Given the description of an element on the screen output the (x, y) to click on. 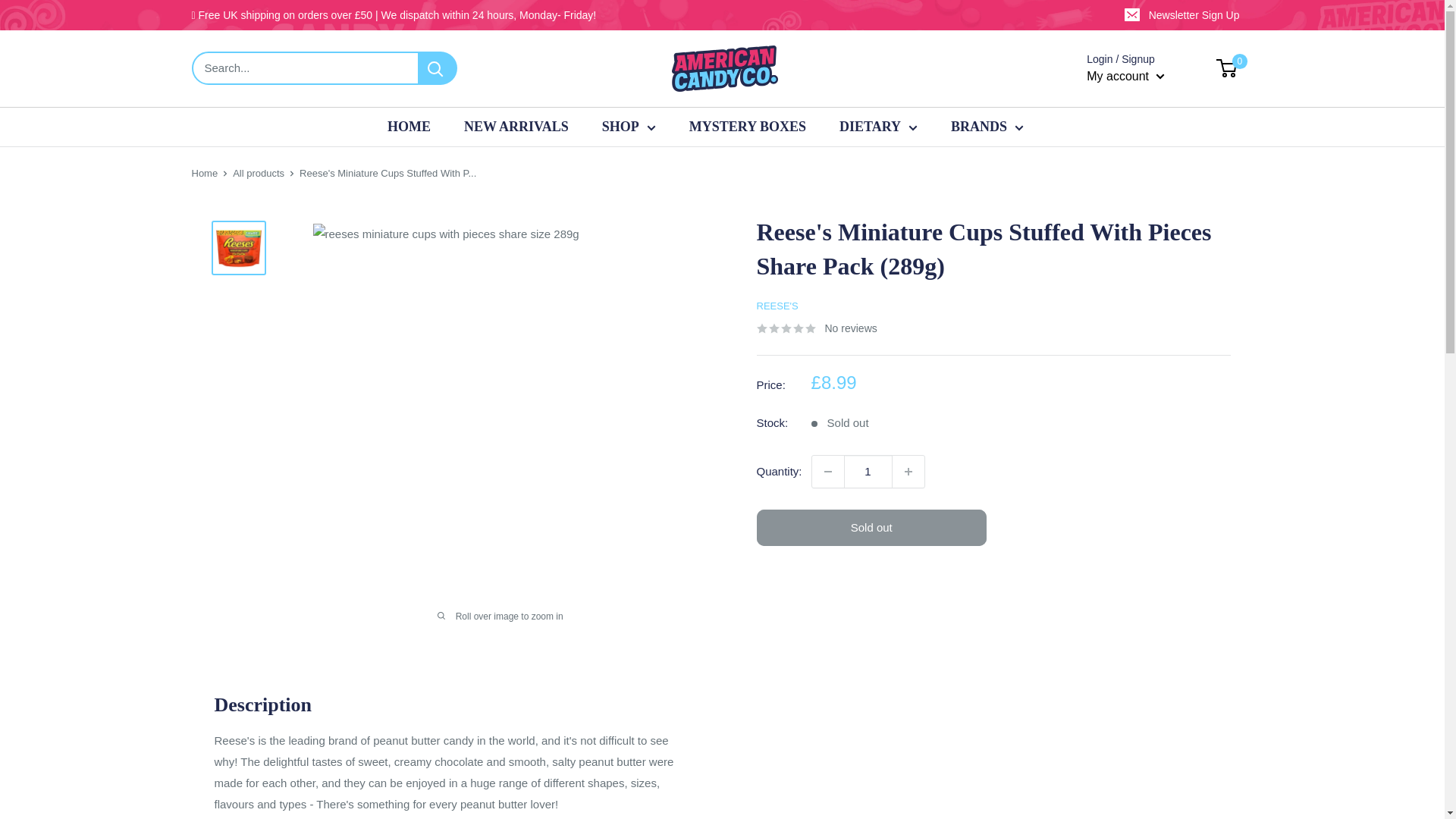
Decrease quantity by 1 (828, 471)
Newsletter Sign Up (1183, 15)
1 (868, 471)
Increase quantity by 1 (908, 471)
